Given the description of an element on the screen output the (x, y) to click on. 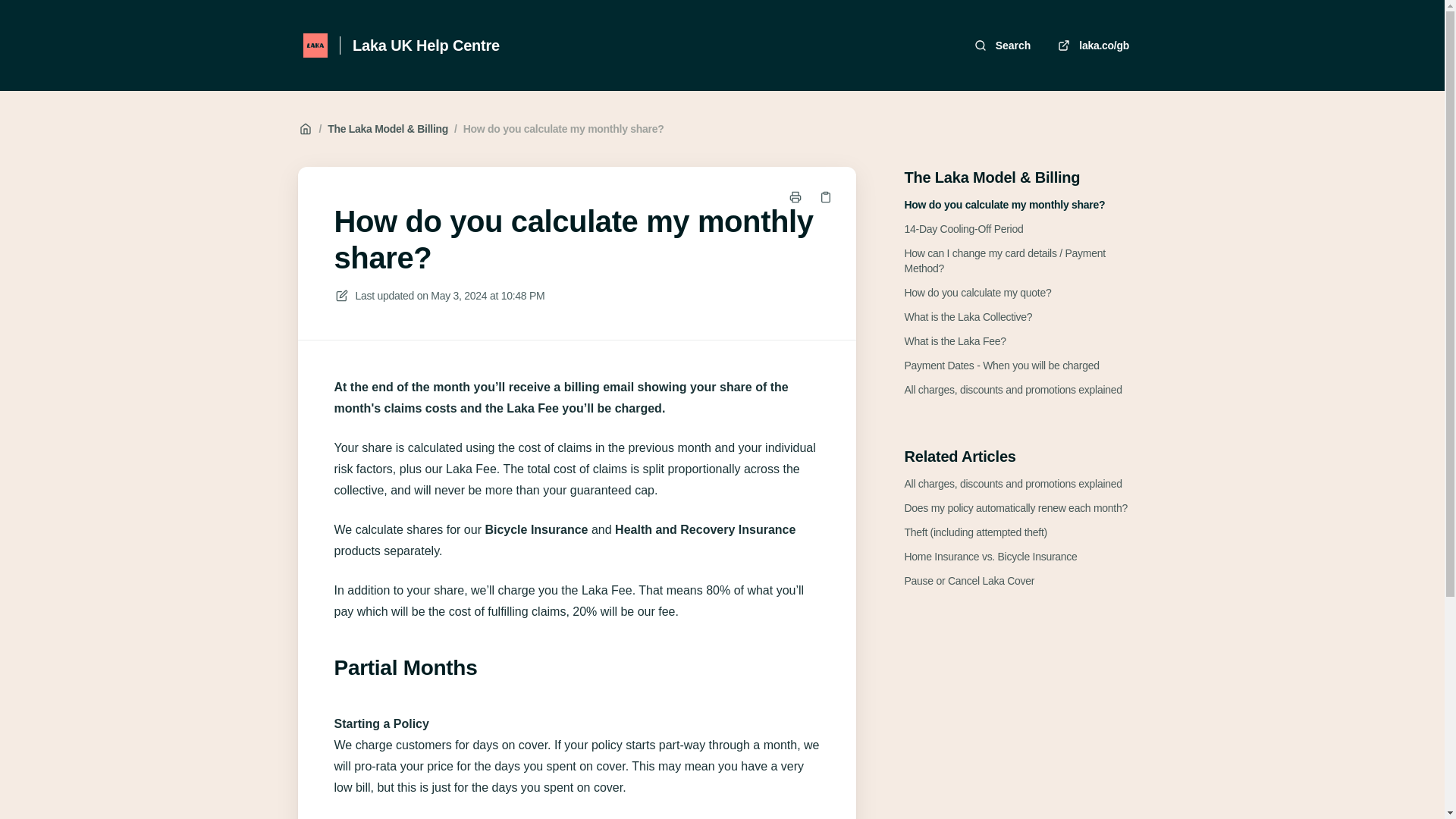
Does my policy automatically renew each month? (1015, 507)
How do you calculate my monthly share? (563, 128)
Search (1004, 45)
14-Day Cooling-Off Period (963, 228)
All charges, discounts and promotions explained (1012, 389)
How do you calculate my quote? (977, 292)
Pause or Cancel Laka Cover (968, 580)
Payment Dates - When you will be charged (1001, 365)
How do you calculate my monthly share? (1004, 204)
Home Insurance vs. Bicycle Insurance (990, 556)
All charges, discounts and promotions explained (1012, 483)
What is the Laka Collective? (968, 316)
What is the Laka Fee? (955, 340)
Laka UK Help Centre (425, 45)
